Given the description of an element on the screen output the (x, y) to click on. 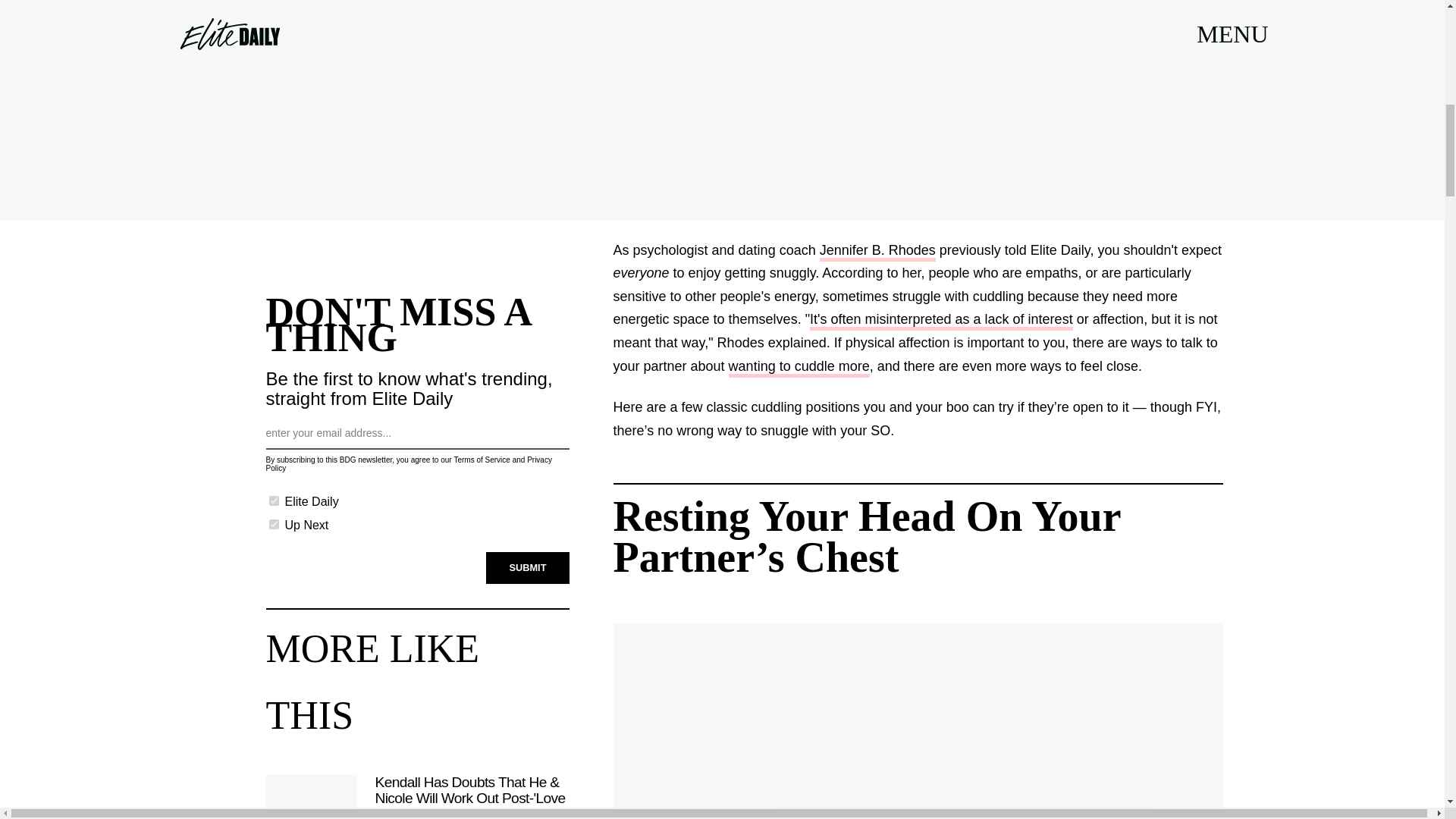
It's often misinterpreted as a lack of interest (941, 321)
SUBMIT (527, 567)
wanting to cuddle more (799, 367)
Privacy Policy (407, 463)
Terms of Service (480, 459)
Jennifer B. Rhodes (877, 251)
